Given the description of an element on the screen output the (x, y) to click on. 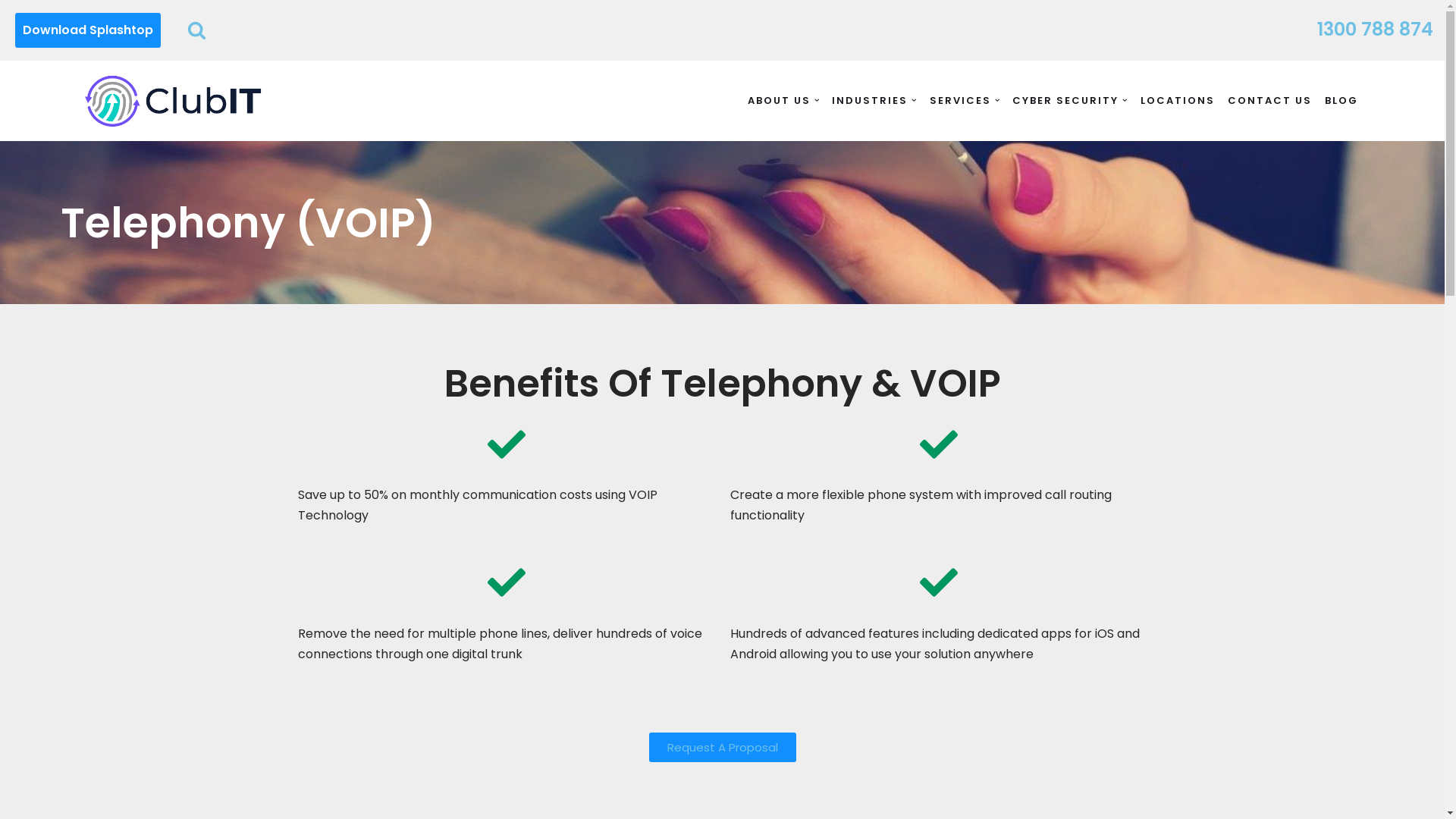
Download Splashtop Element type: text (87, 29)
SERVICES Element type: text (960, 100)
Request A Proposal Element type: text (722, 747)
ClubIT Element type: hover (172, 100)
LOCATIONS Element type: text (1177, 100)
CONTACT US Element type: text (1269, 100)
BLOG Element type: text (1341, 100)
CYBER SECURITY Element type: text (1065, 100)
ABOUT US Element type: text (778, 100)
1300 788 874 Element type: text (1375, 30)
Skip to content Element type: text (11, 31)
INDUSTRIES Element type: text (869, 100)
